Given the description of an element on the screen output the (x, y) to click on. 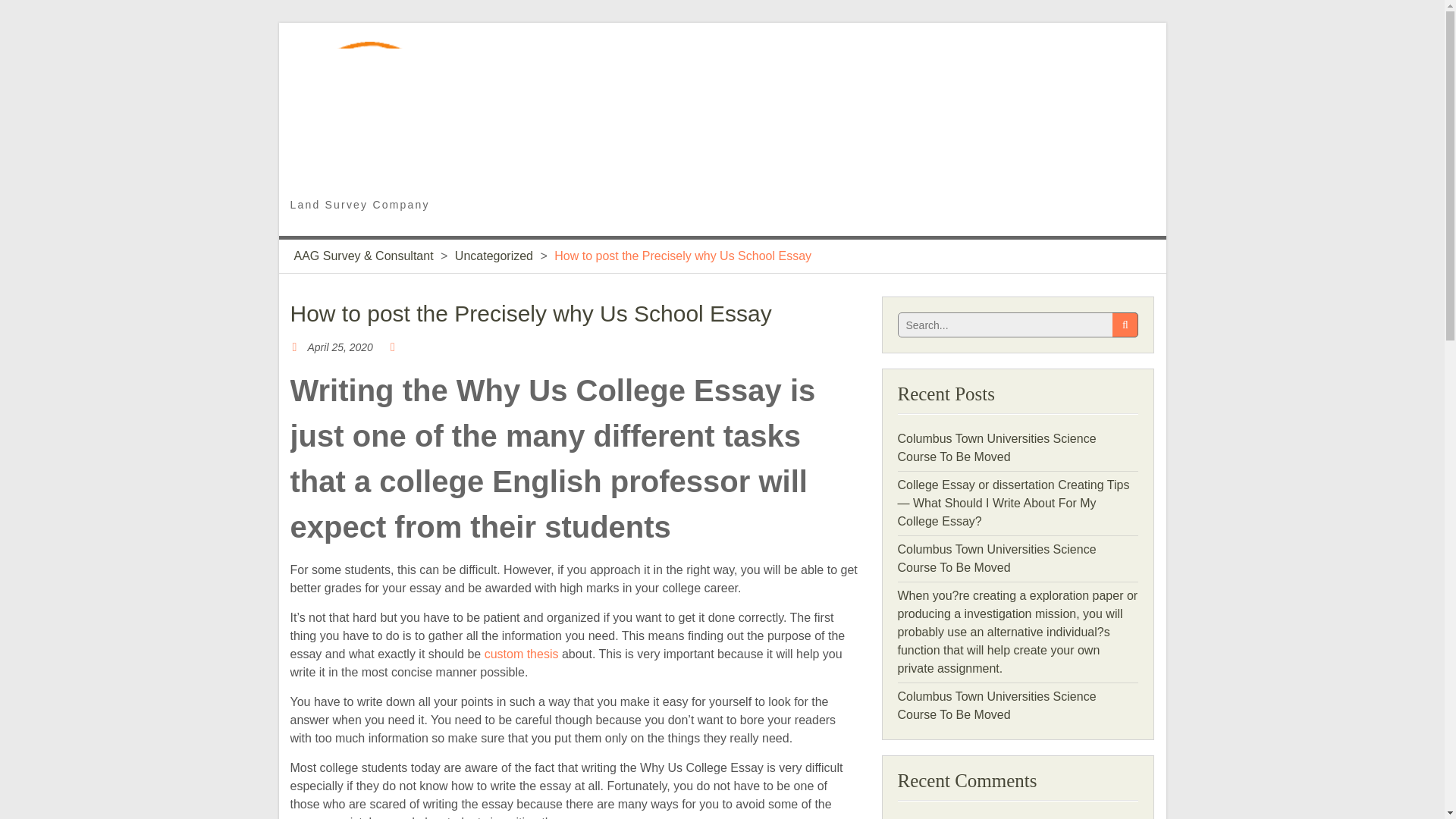
Columbus Town Universities Science Course To Be Moved (997, 558)
Columbus Town Universities Science Course To Be Moved (997, 447)
custom thesis (521, 653)
Uncategorized (493, 255)
Columbus Town Universities Science Course To Be Moved (997, 705)
April 25, 2020 (339, 346)
